Given the description of an element on the screen output the (x, y) to click on. 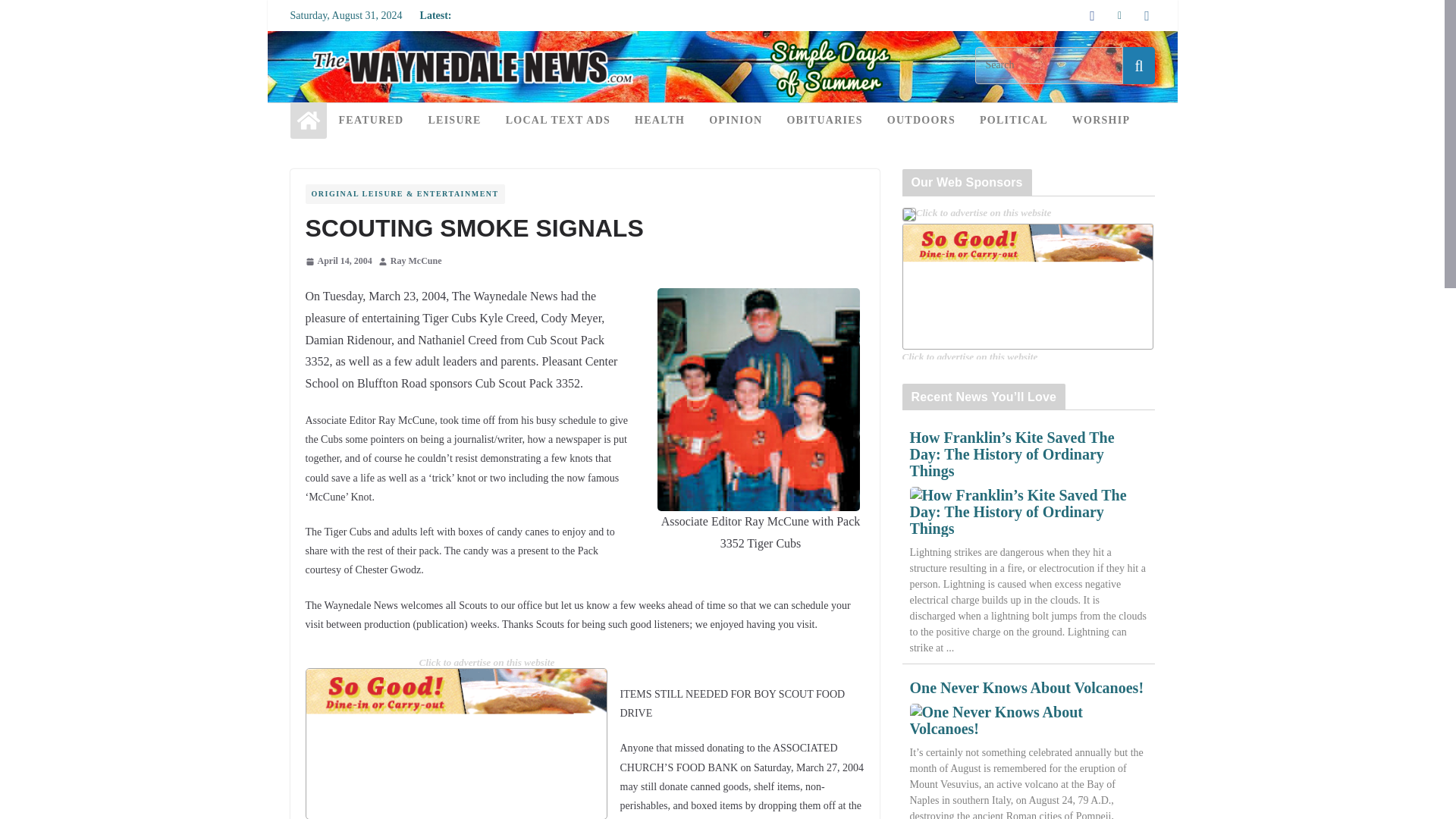
April 14, 2004 (337, 261)
Associate Editor Ray McCune with Pack 3352 Tiger Cubs (758, 399)
OUTDOORS (920, 120)
One Never Knows About Volcanoes! (1028, 720)
OBITUARIES (823, 120)
The Waynedale News (721, 41)
LEISURE (454, 120)
WORSHIP (1100, 120)
Ray McCune (416, 261)
OPINION (735, 120)
